Given the description of an element on the screen output the (x, y) to click on. 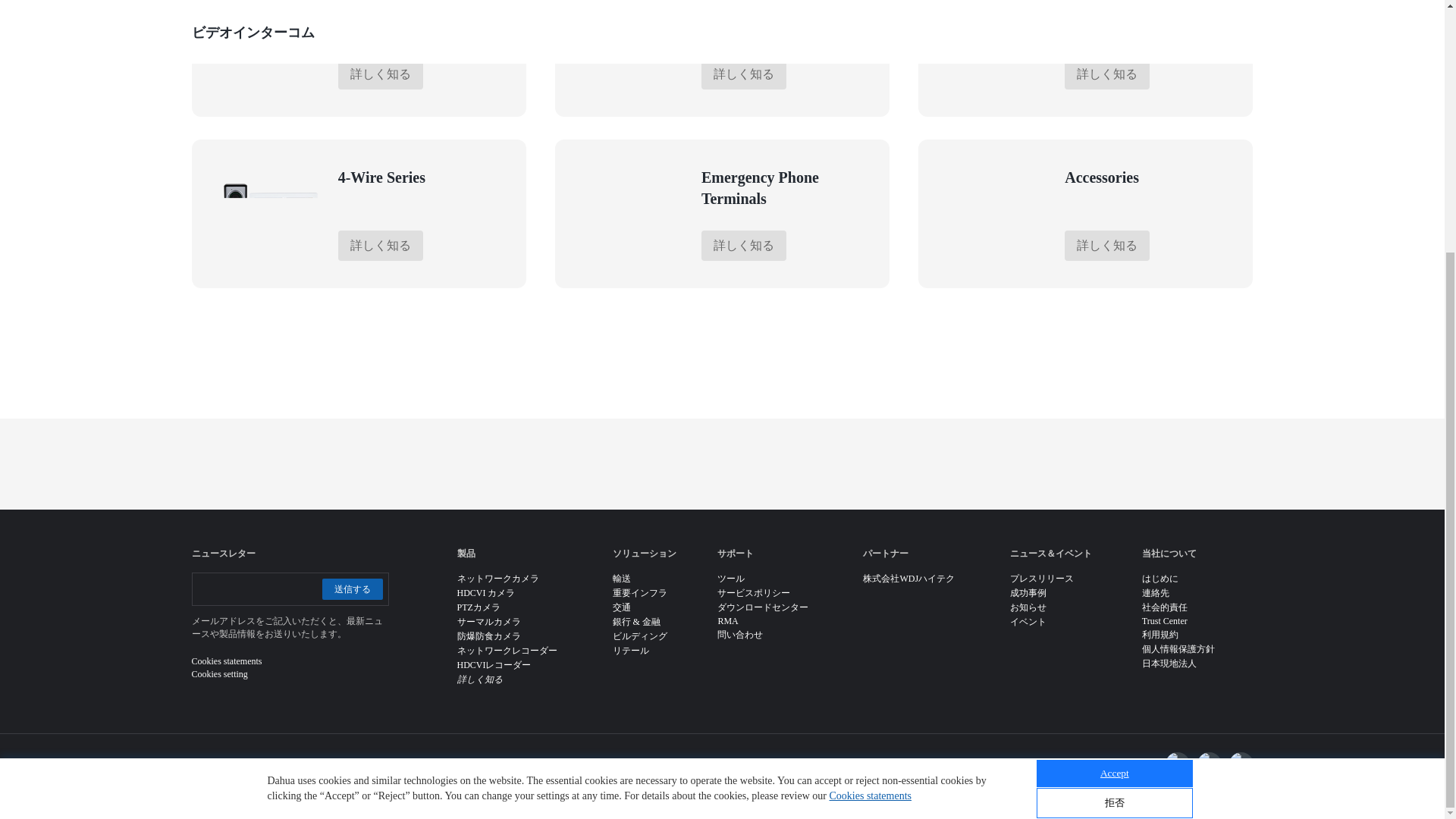
Accept (1114, 416)
Cookies statements (870, 439)
Cookies statements (870, 439)
